Given the description of an element on the screen output the (x, y) to click on. 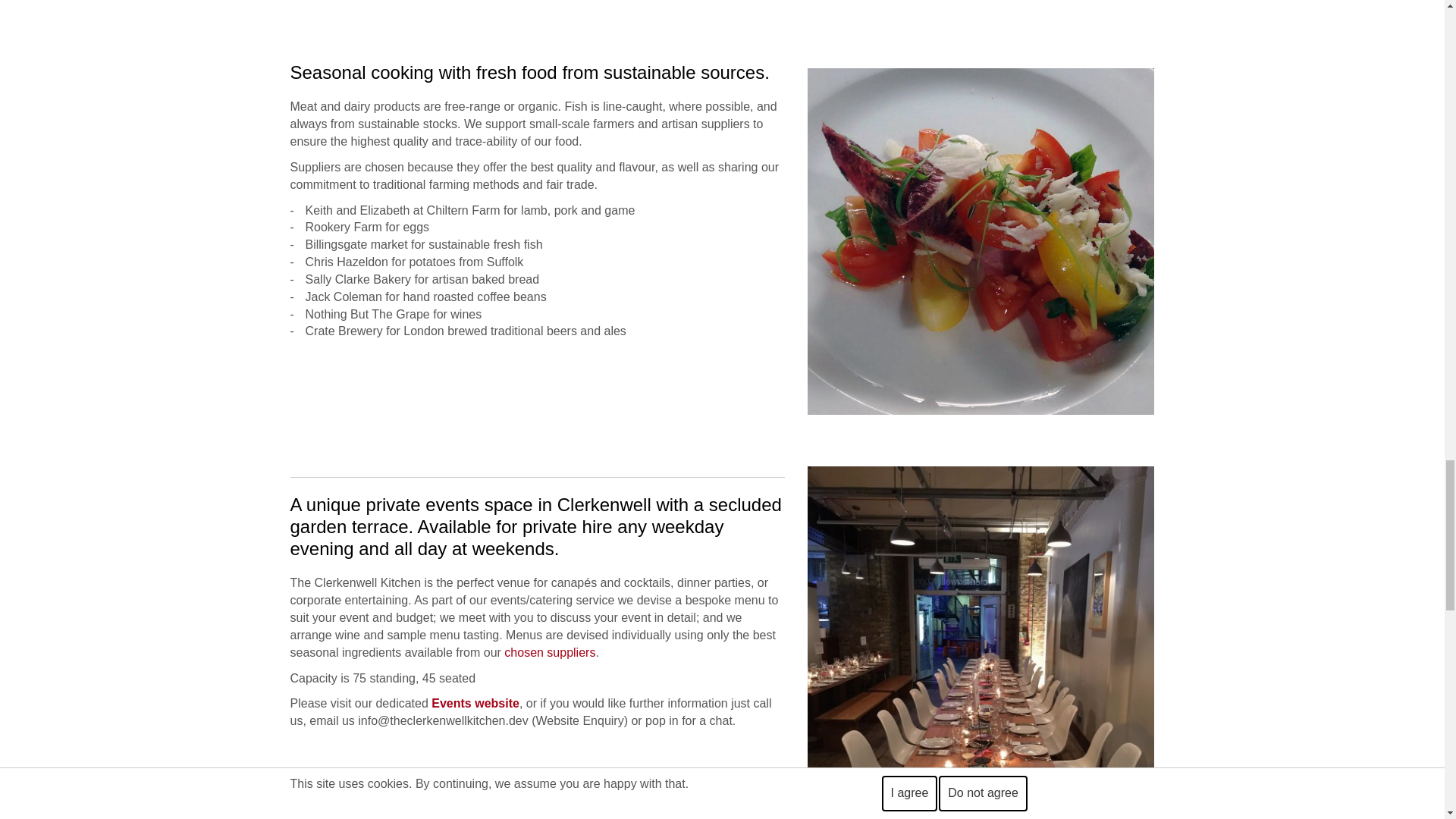
chosen suppliers (549, 652)
Events website (474, 703)
